Given the description of an element on the screen output the (x, y) to click on. 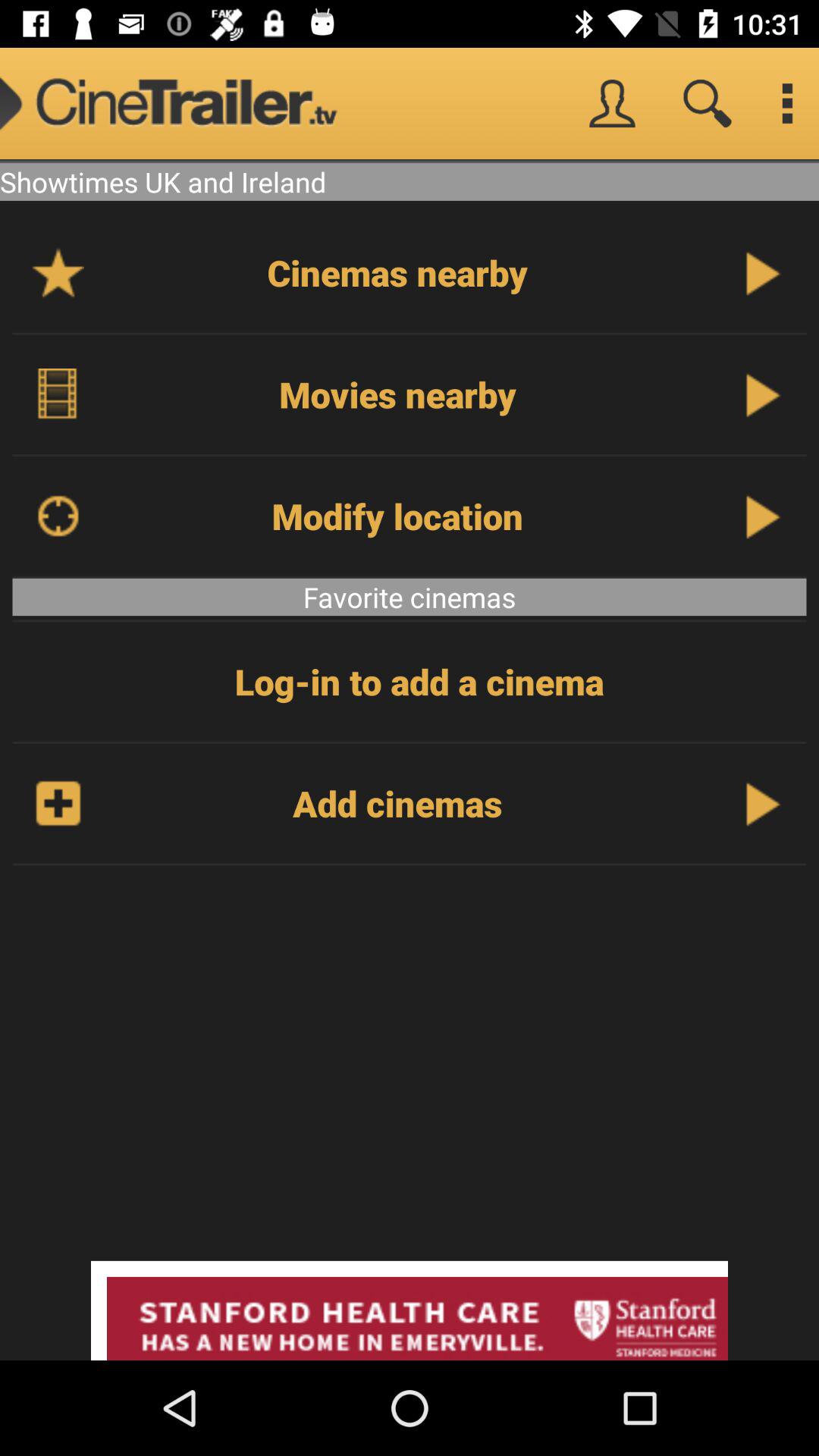
advertisement banner (409, 1310)
